Given the description of an element on the screen output the (x, y) to click on. 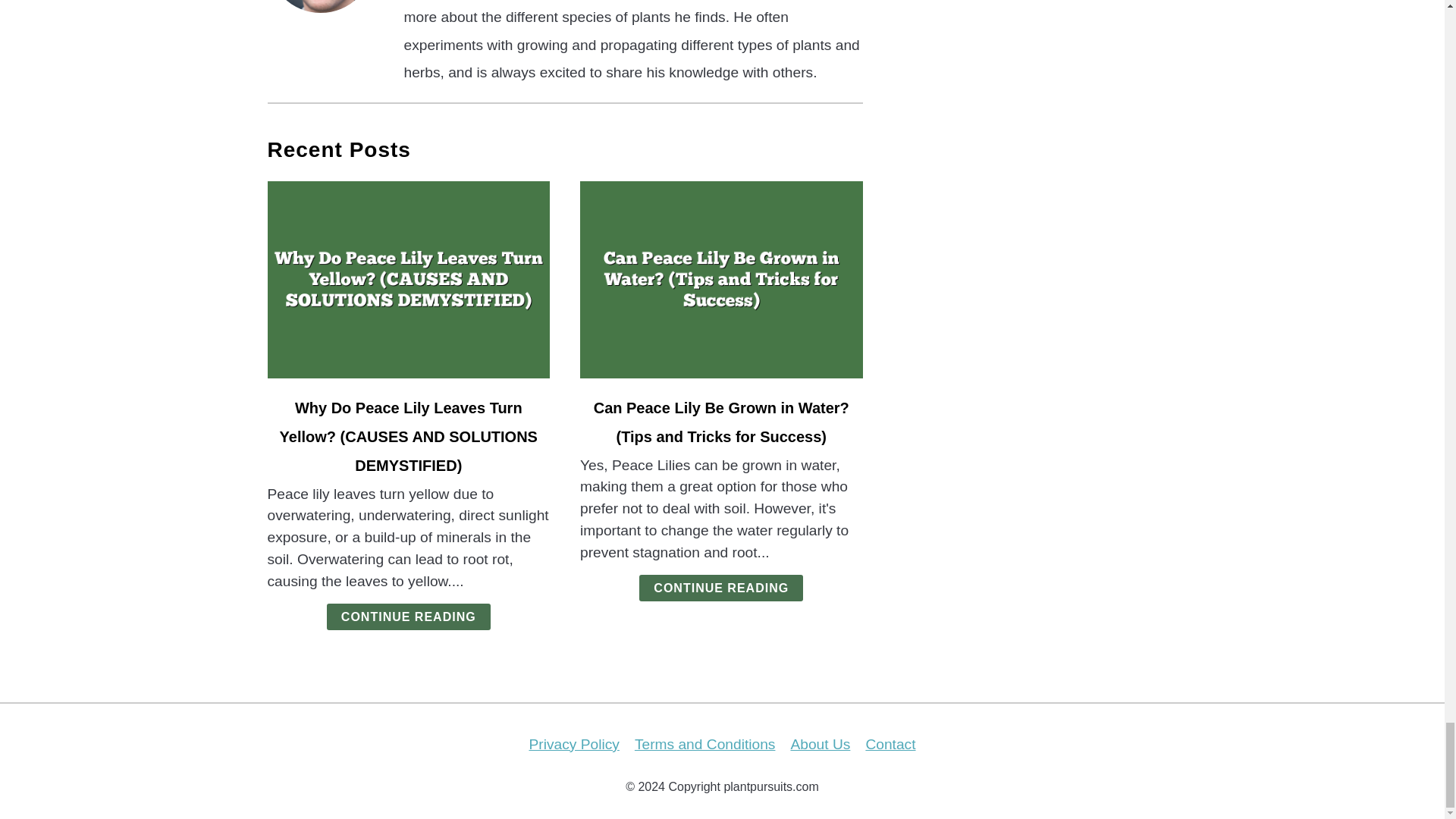
CONTINUE READING (721, 587)
CONTINUE READING (408, 616)
